Given the description of an element on the screen output the (x, y) to click on. 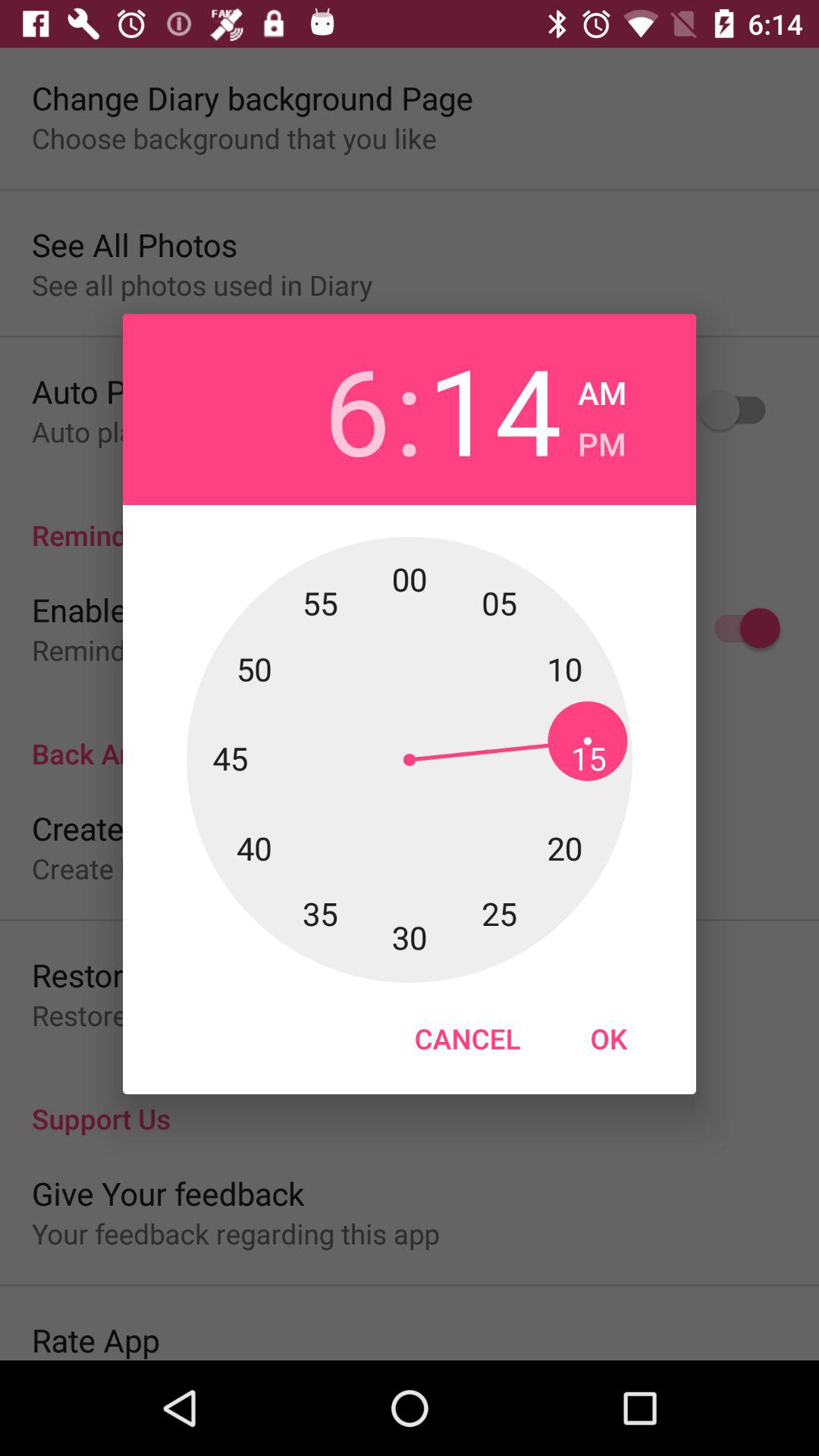
select the cancel item (467, 1038)
